Given the description of an element on the screen output the (x, y) to click on. 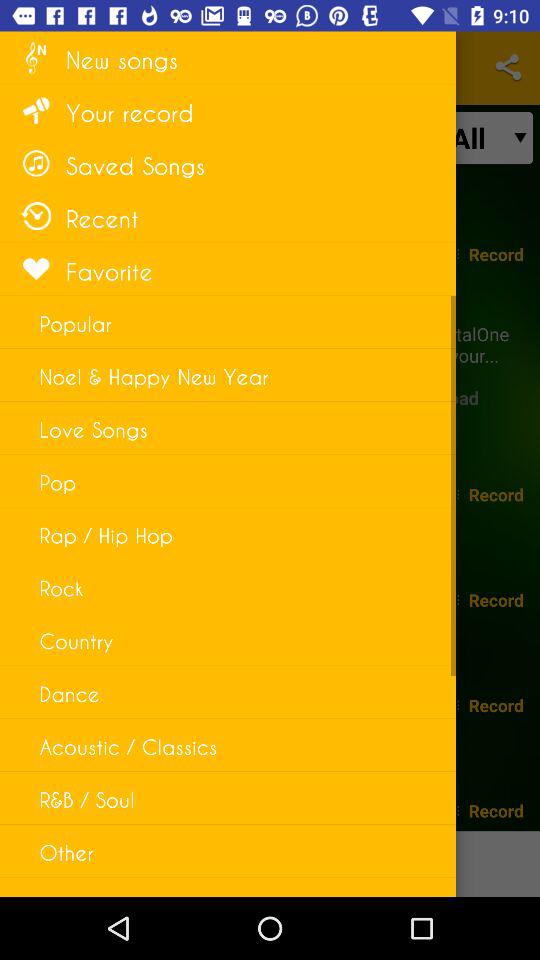
select the icon left to the text your record (36, 110)
